Given the description of an element on the screen output the (x, y) to click on. 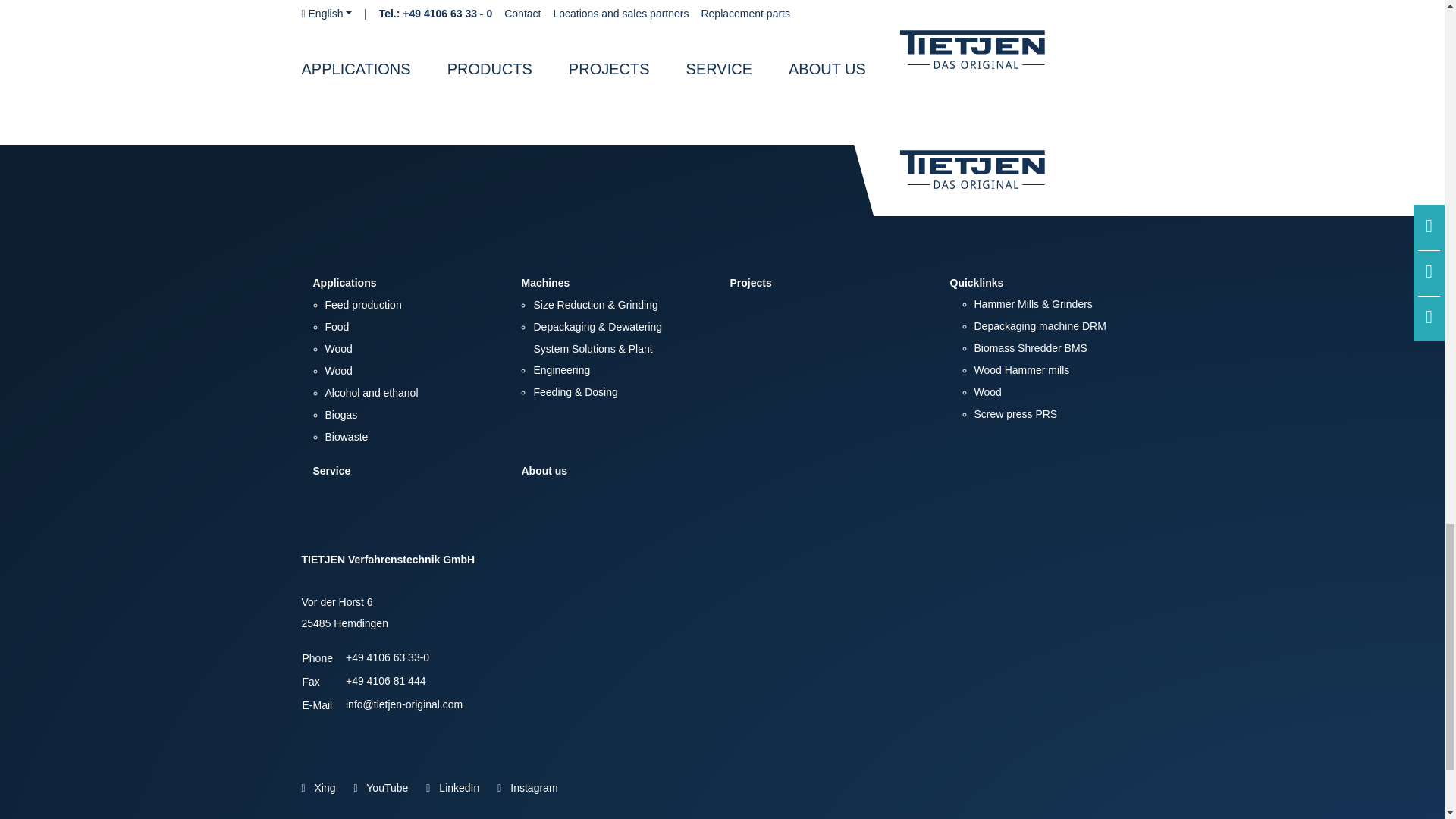
Startseite (1000, 178)
